Given the description of an element on the screen output the (x, y) to click on. 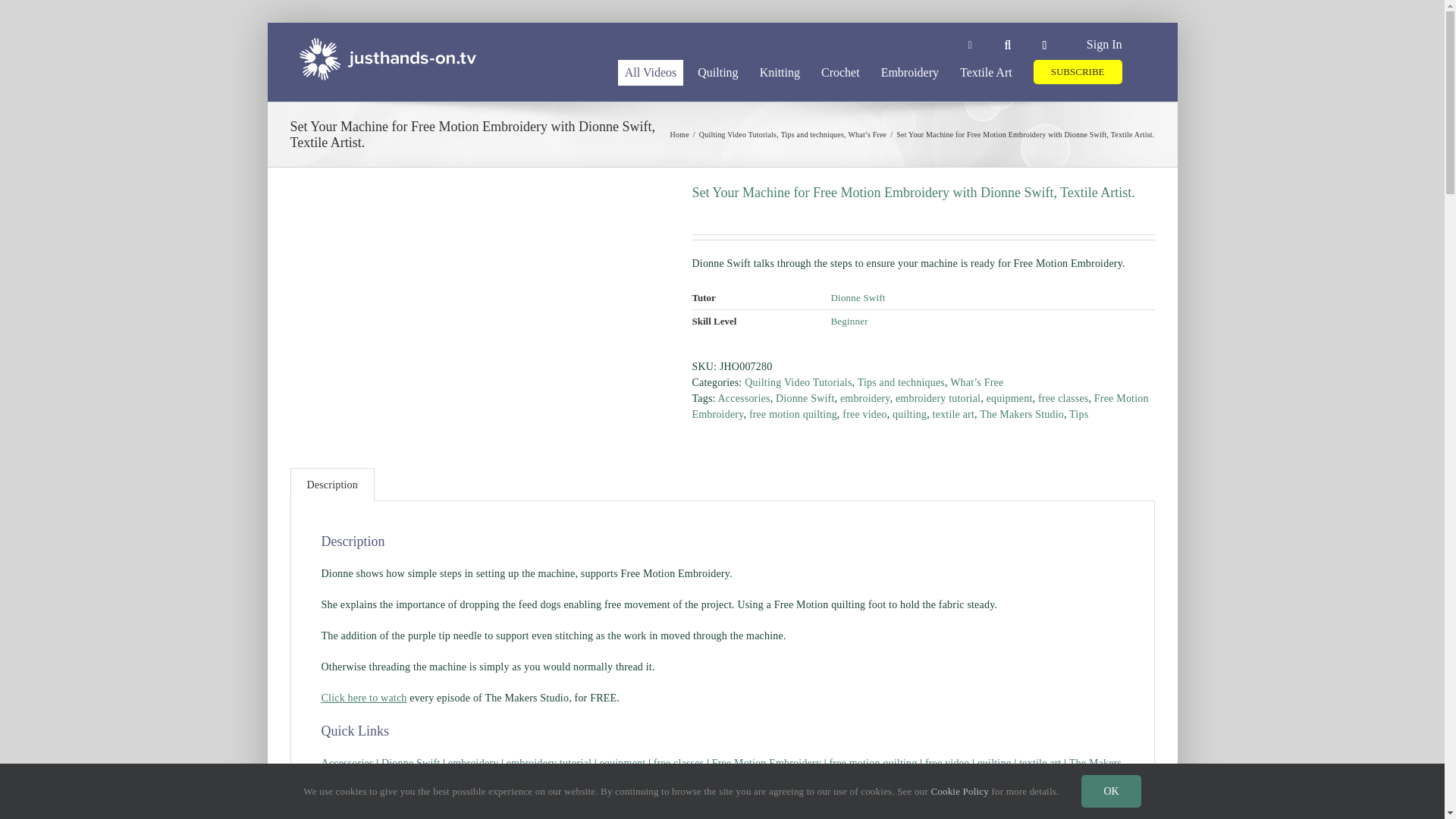
vimeo731657891 (478, 288)
Crochet (839, 71)
All Videos (650, 71)
Quilting (717, 71)
Knitting (779, 71)
